Given the description of an element on the screen output the (x, y) to click on. 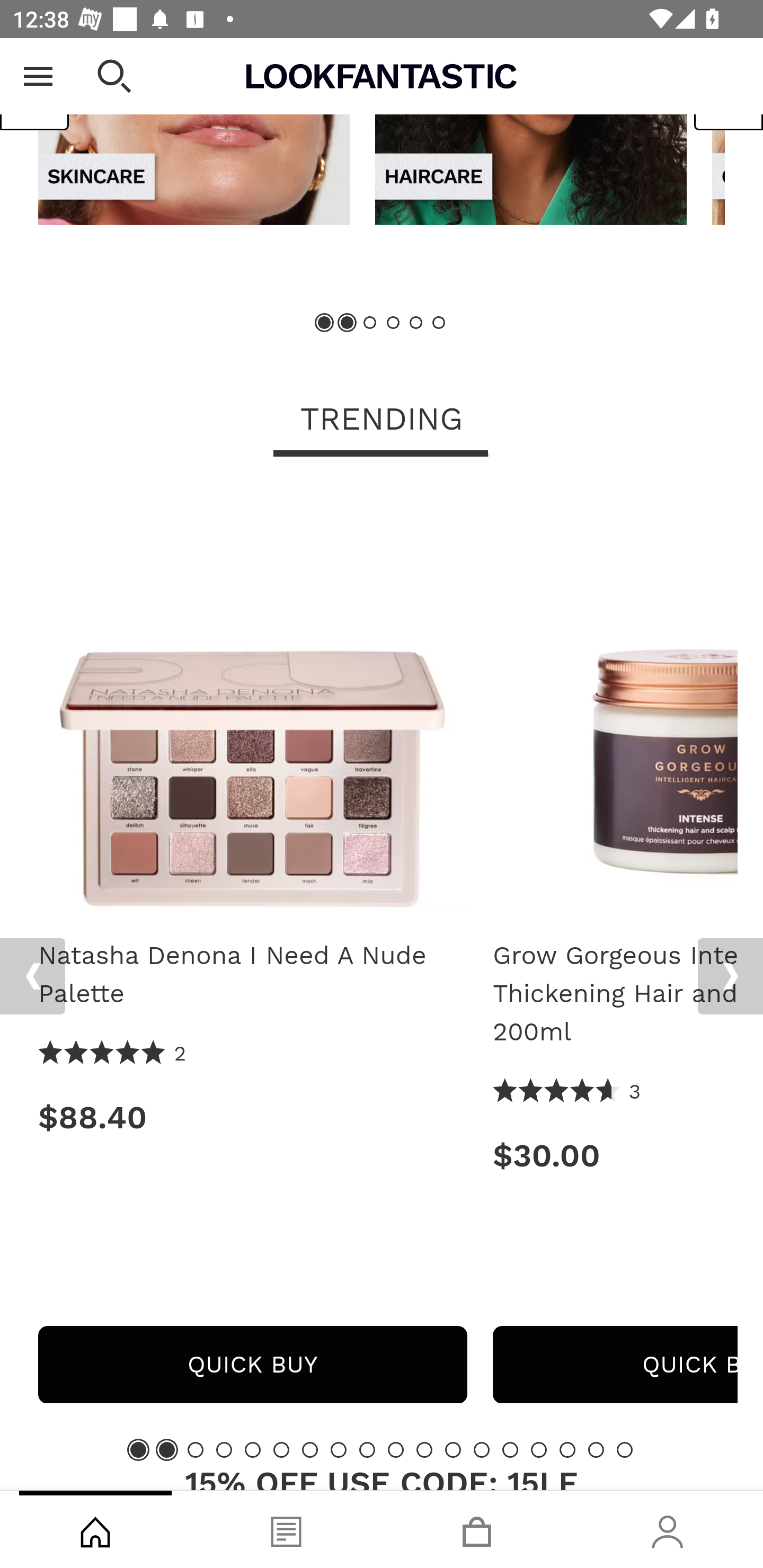
Previous (35, 90)
Showing Slide 1 (Current Item) (324, 323)
Showing Slide 2 (Current Item) (347, 323)
Slide 3 (369, 323)
Slide 4 (393, 323)
Slide 5 (415, 323)
Slide 6 (437, 323)
TRENDING (381, 420)
Natasha Denona I Need A Nude Palette (252, 703)
Natasha Denona I Need A Nude Palette (252, 975)
Previous (32, 976)
Next (730, 976)
5.0 Stars 2 Reviews (112, 1054)
4.67 Stars 3 Reviews (567, 1091)
Price: $88.40 (252, 1117)
Price: $30.00 (614, 1156)
QUICK BUY NATASHA DENONA I NEED A NUDE PALETTE (252, 1364)
Showing Slide 1 (Current Item) (138, 1449)
Showing Slide 2 (Current Item) (166, 1449)
Slide 3 (195, 1449)
Slide 4 (223, 1449)
Slide 5 (252, 1449)
Slide 6 (281, 1449)
Slide 7 (310, 1449)
Slide 8 (338, 1449)
Slide 9 (367, 1449)
Slide 10 (395, 1449)
Slide 11 (424, 1449)
Slide 12 (452, 1449)
Slide 13 (481, 1449)
Slide 14 (510, 1449)
Slide 15 (539, 1449)
Slide 16 (567, 1449)
Slide 17 (596, 1449)
Slide 18 (624, 1449)
Shop, tab, 1 of 4 (95, 1529)
Blog, tab, 2 of 4 (285, 1529)
Basket, tab, 3 of 4 (476, 1529)
Account, tab, 4 of 4 (667, 1529)
